Given the description of an element on the screen output the (x, y) to click on. 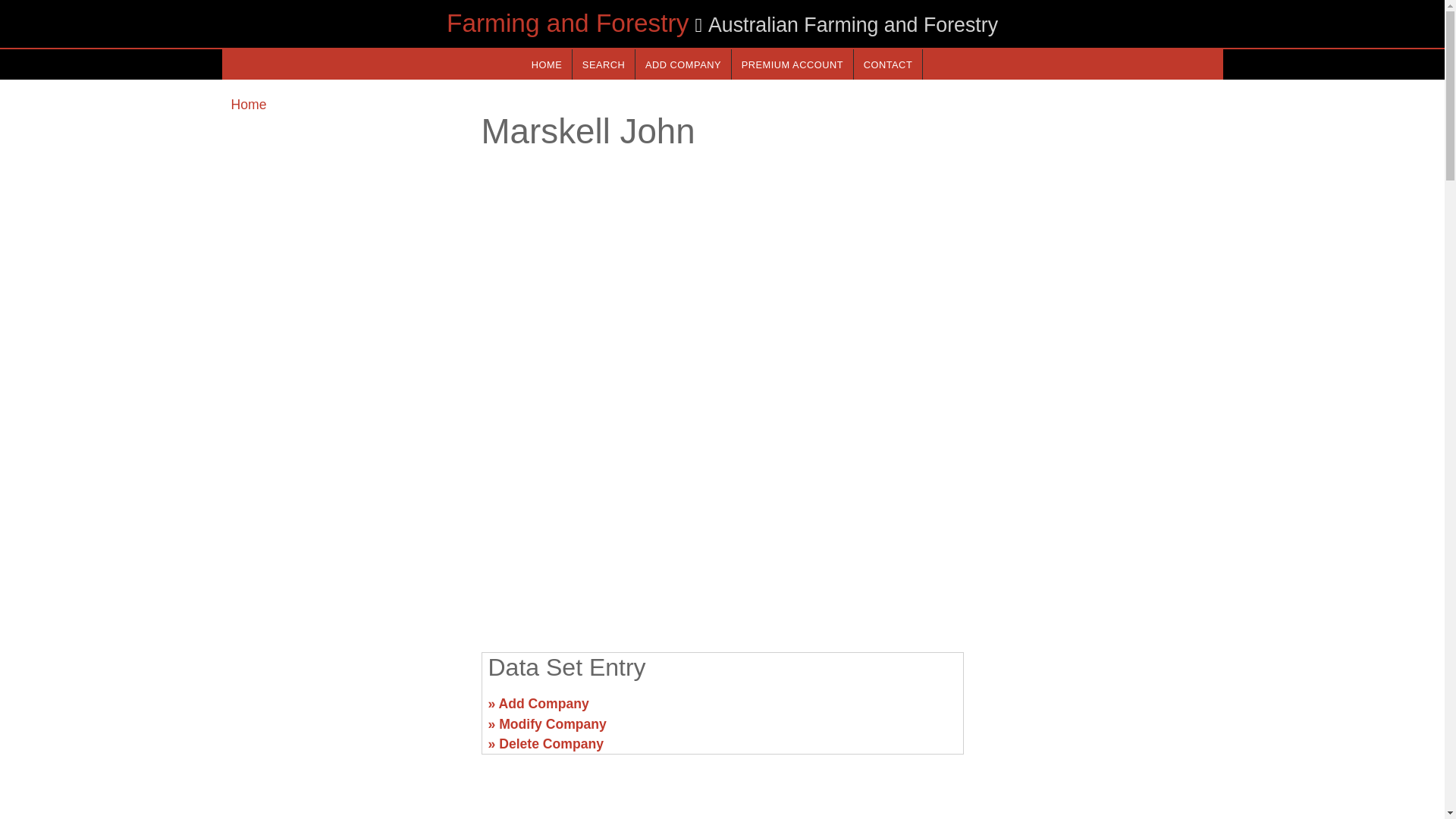
Farming and Forestry (567, 22)
ADD COMPANY (682, 64)
HOME (546, 64)
CONTACT (887, 64)
SEARCH (603, 64)
Advertisement (721, 522)
Home (248, 104)
Search in this webseite. (603, 64)
Advertisement (346, 710)
PREMIUM ACCOUNT (792, 64)
Add a new company (682, 64)
Premium account (792, 64)
Advertisement (1096, 710)
